Given the description of an element on the screen output the (x, y) to click on. 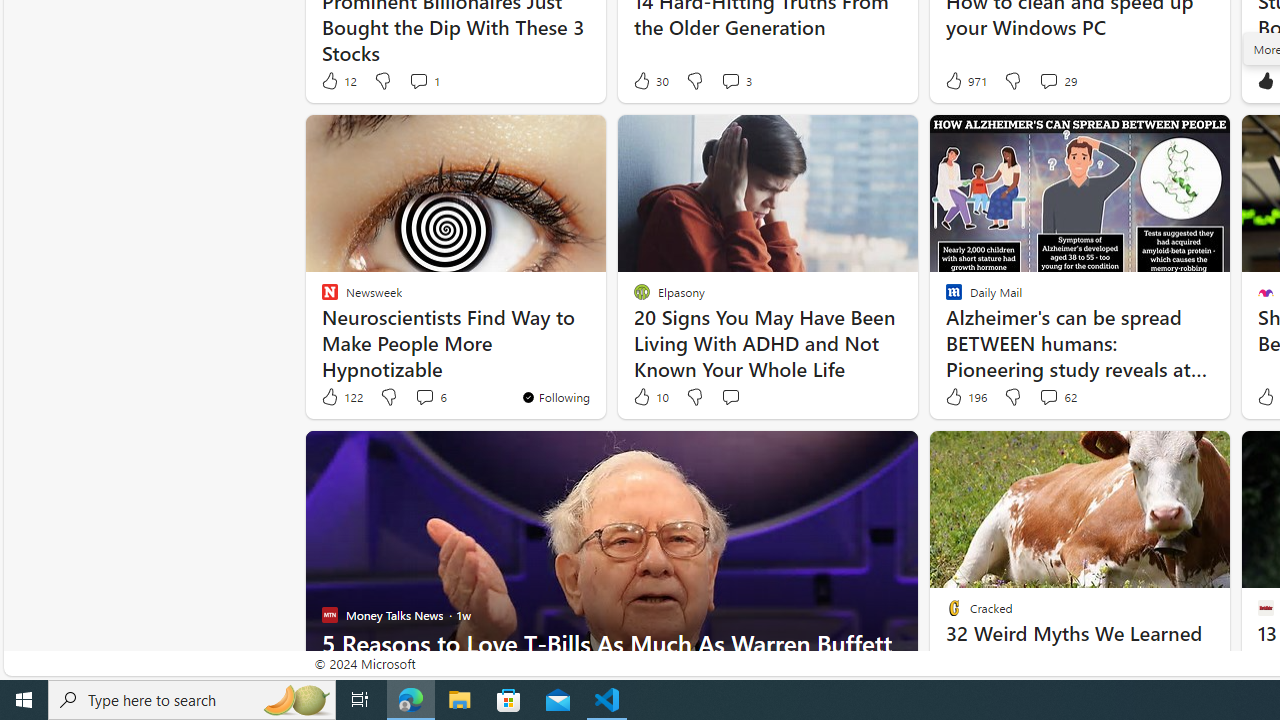
View comments 6 Comment (424, 396)
View comments 29 Comment (1057, 80)
122 Like (341, 397)
Hide this story (1169, 454)
View comments 62 Comment (1057, 397)
196 Like (964, 397)
